Given the description of an element on the screen output the (x, y) to click on. 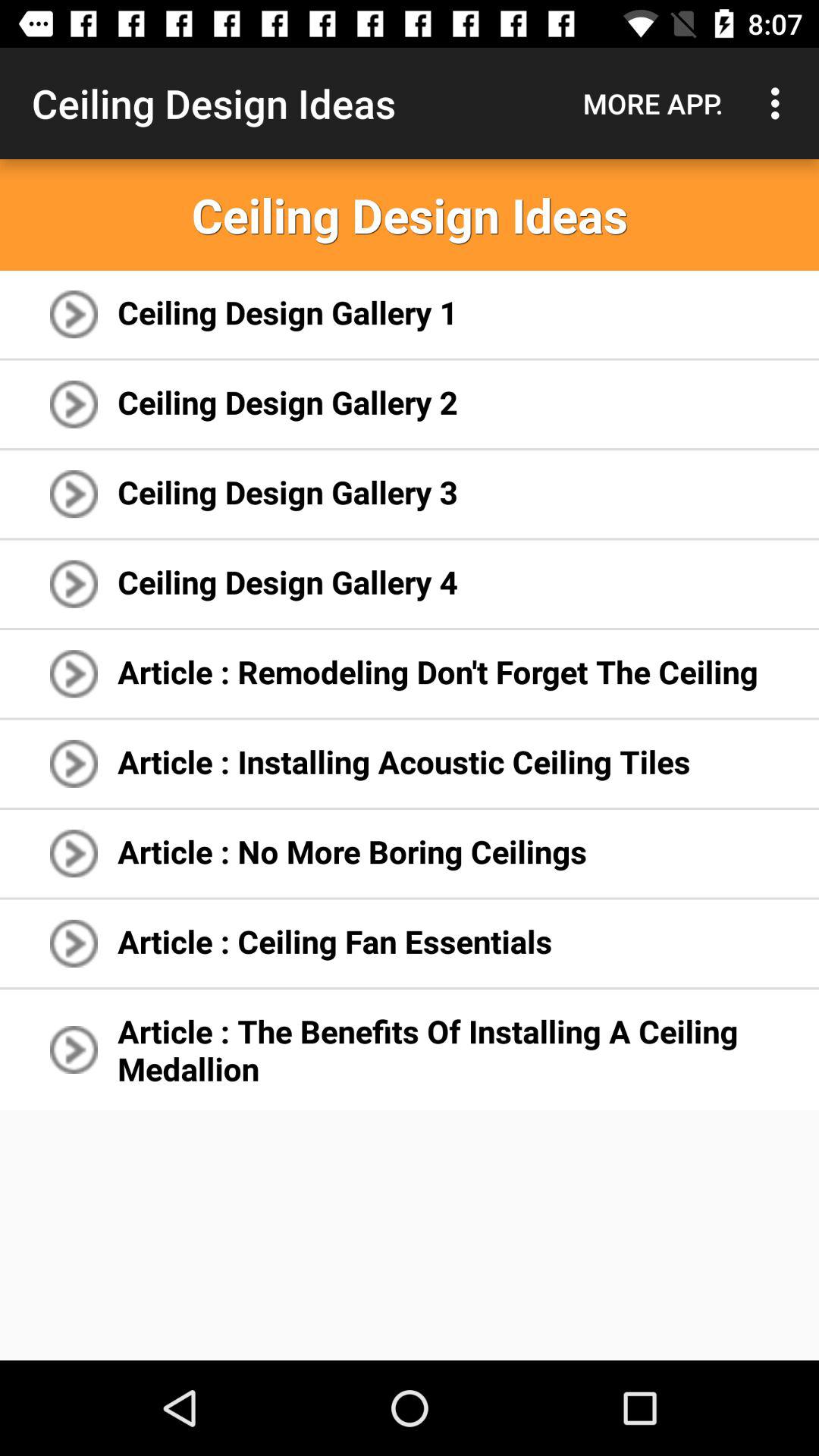
click icon to the right of the more app. item (779, 103)
